Given the description of an element on the screen output the (x, y) to click on. 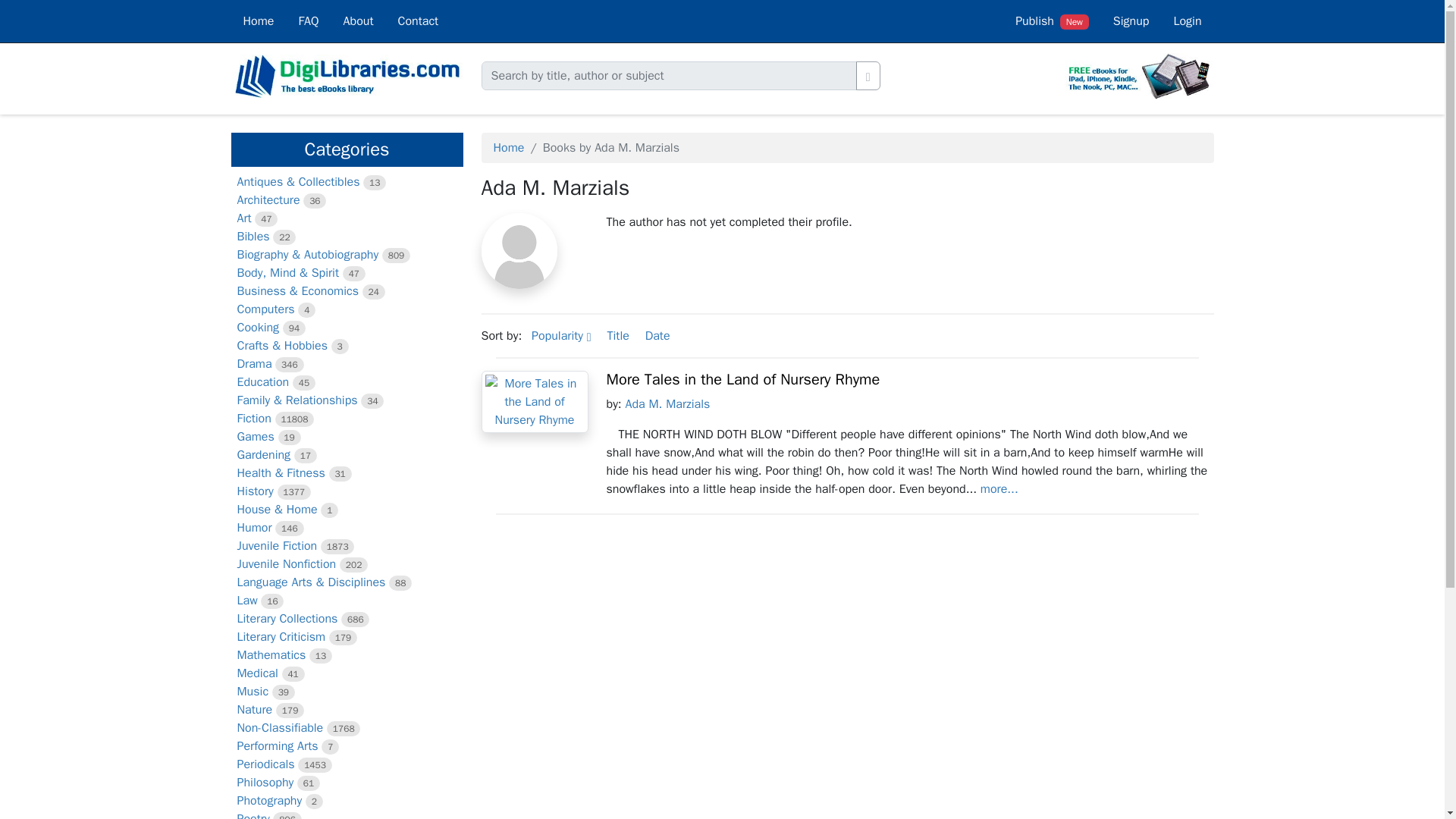
Fiction (252, 418)
Juvenile Fiction (276, 545)
Contact (418, 21)
Cooking (257, 327)
Login (1186, 21)
PublishNew (1051, 21)
Mathematics (270, 654)
Architecture (267, 200)
Home (257, 21)
Art (242, 218)
Law (246, 600)
FAQ (307, 21)
Drama (252, 363)
History (254, 491)
Literary Collections (286, 618)
